Given the description of an element on the screen output the (x, y) to click on. 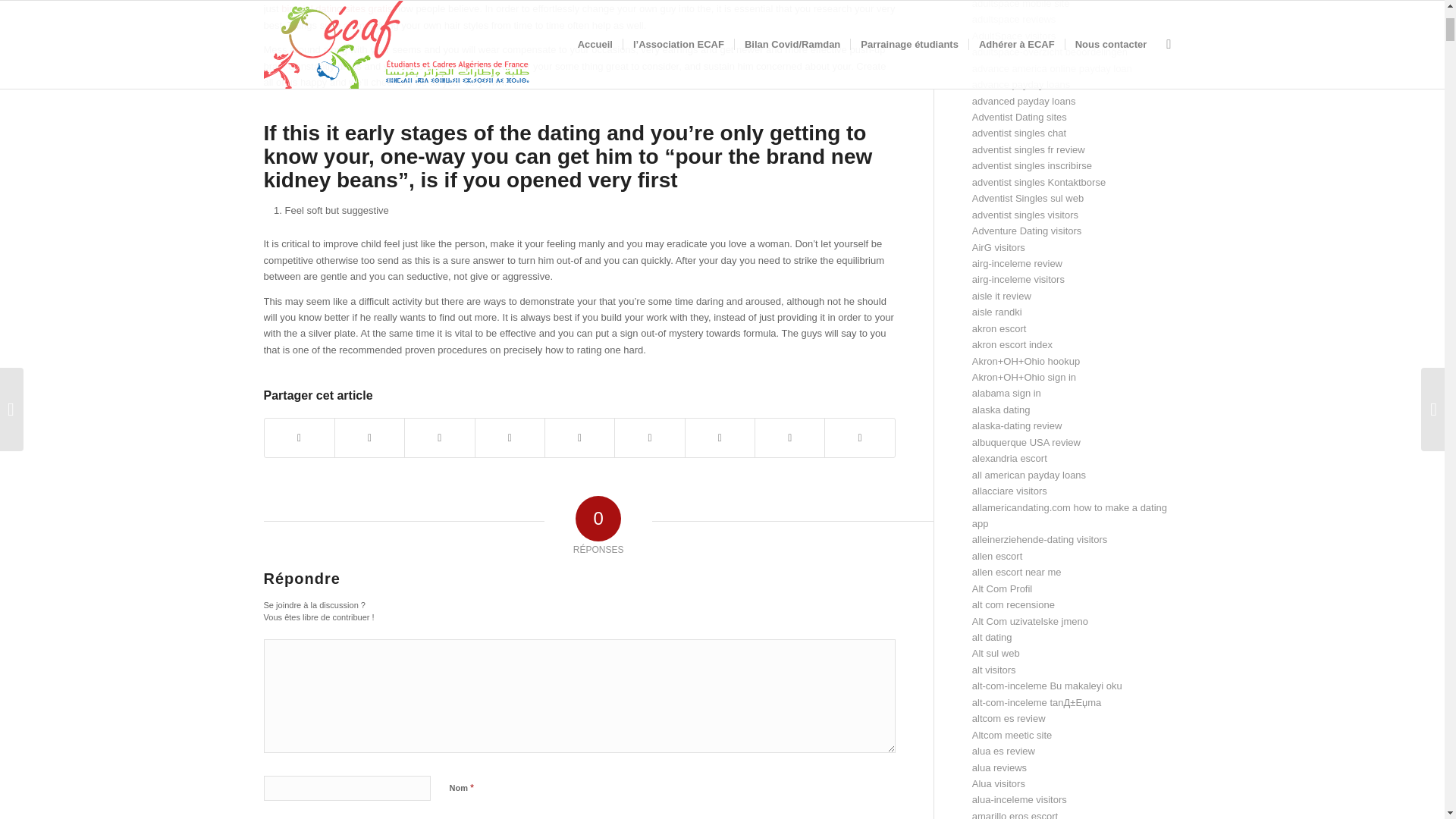
biracial dating sites gratis (336, 8)
